Given the description of an element on the screen output the (x, y) to click on. 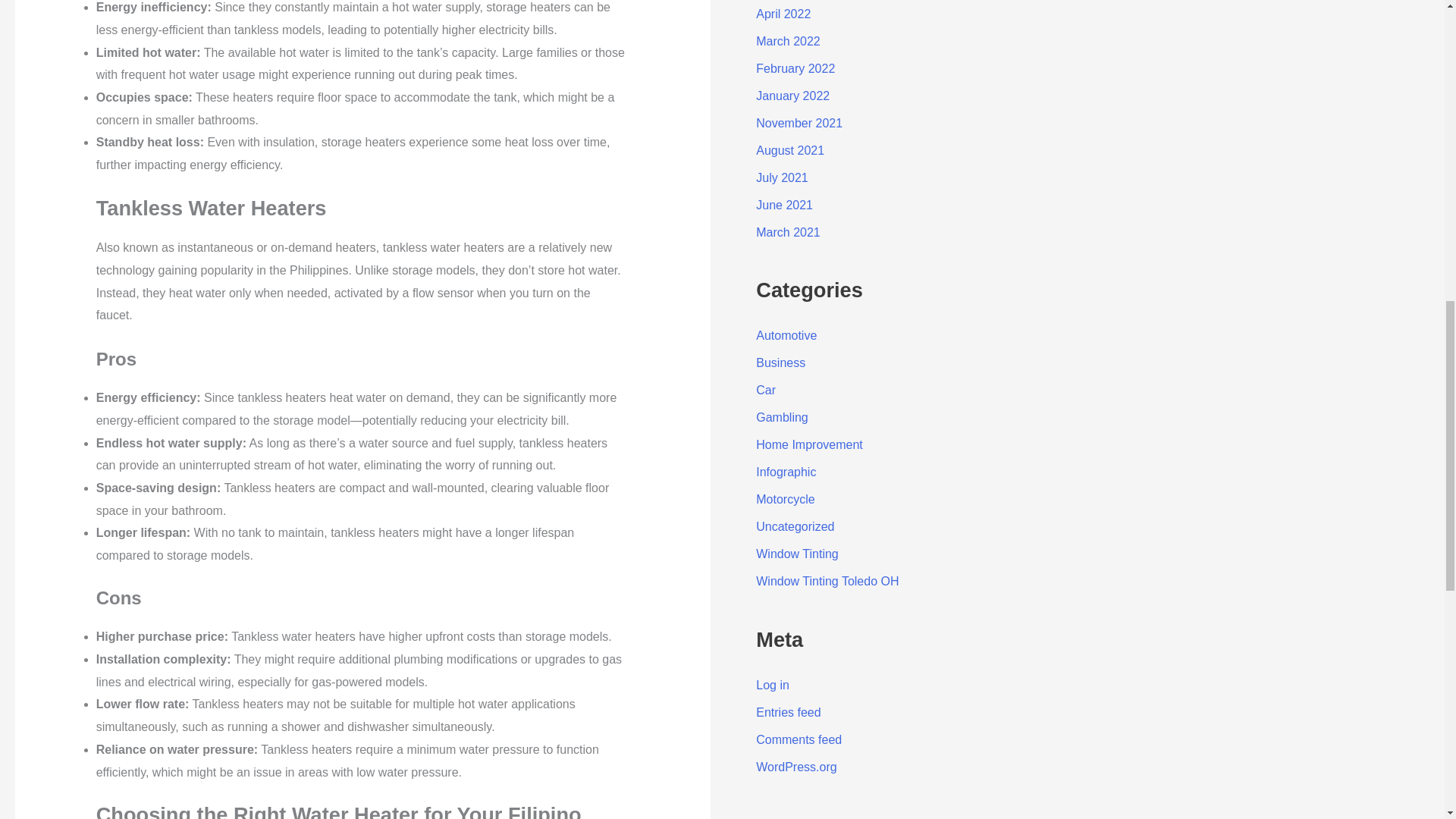
March 2022 (788, 41)
February 2022 (794, 68)
April 2022 (782, 13)
